Given the description of an element on the screen output the (x, y) to click on. 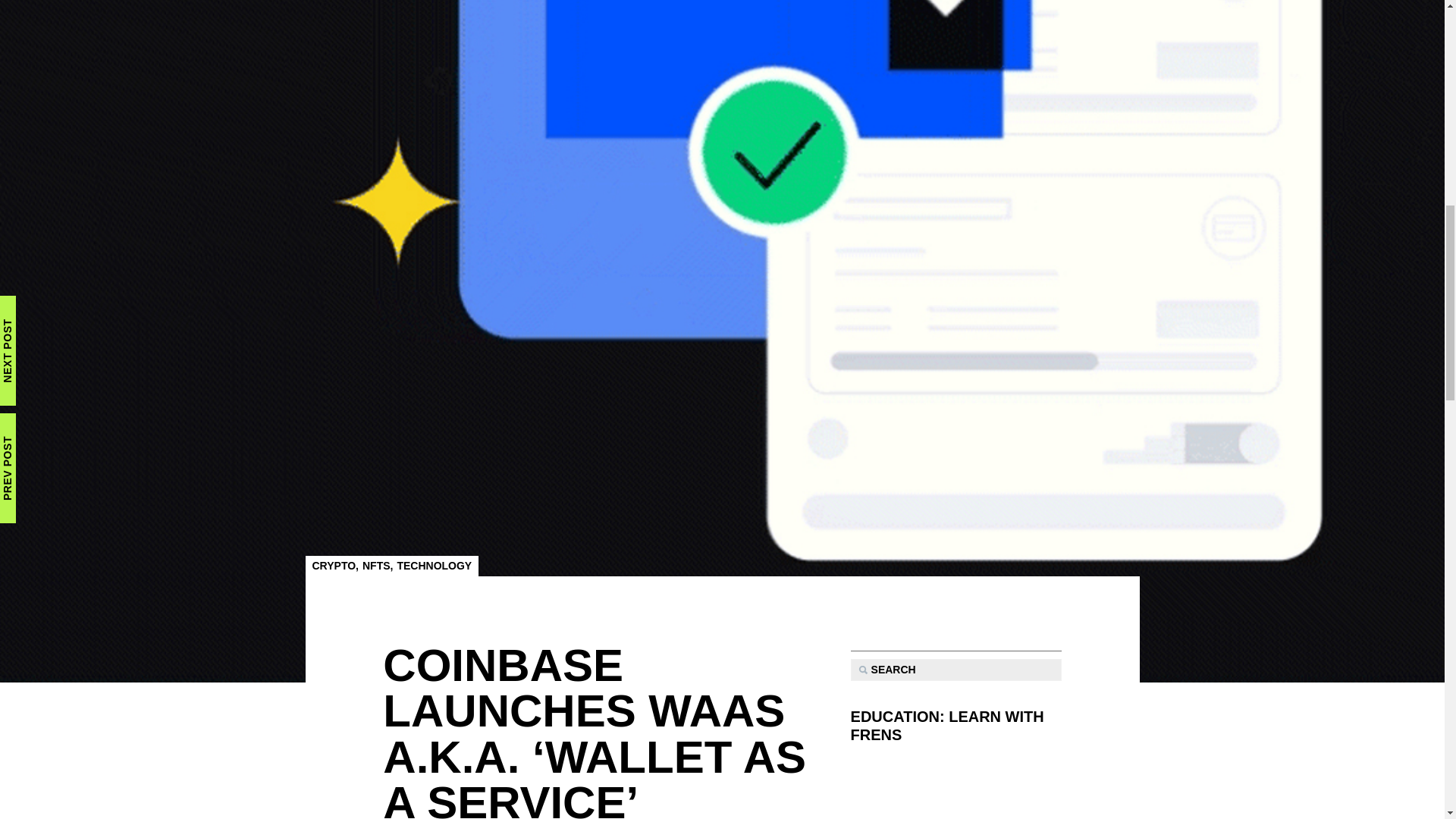
NFTS (376, 565)
CRYPTO (334, 565)
TECHNOLOGY (433, 565)
